Given the description of an element on the screen output the (x, y) to click on. 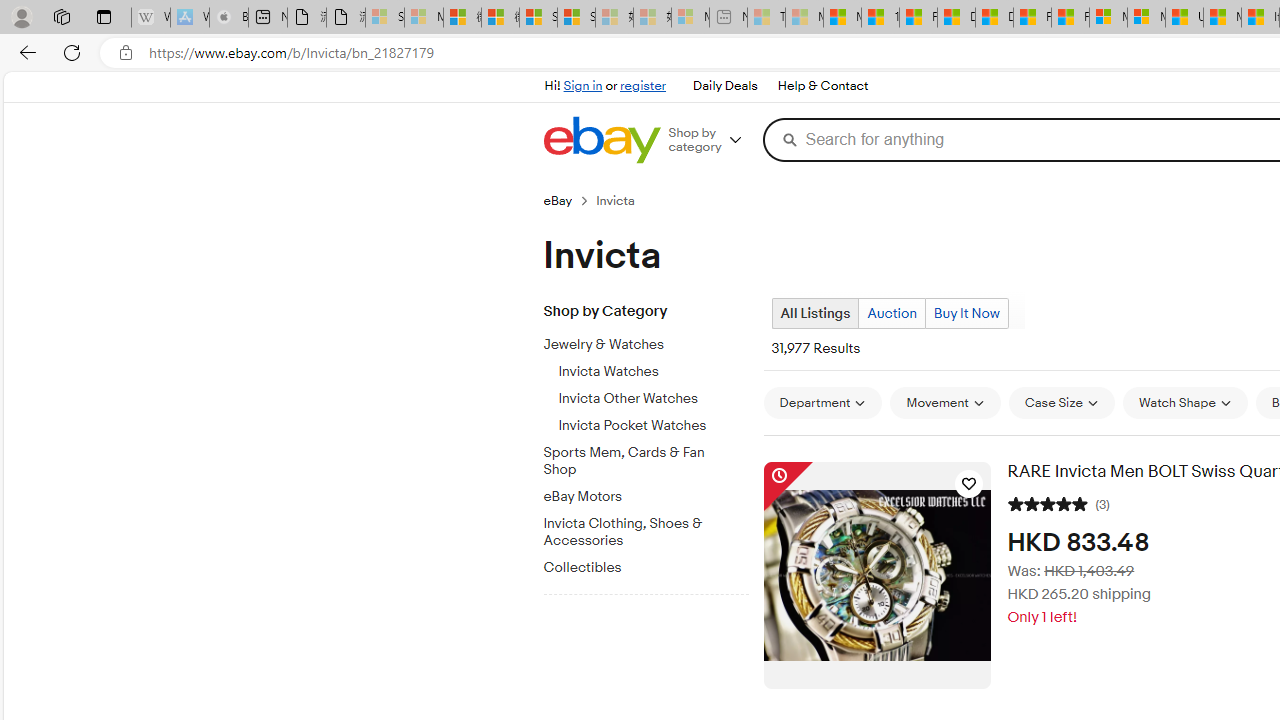
Auction (891, 313)
Collectibles (637, 568)
Movement (944, 402)
Jewelry & Watches (637, 345)
Daily Deals (724, 86)
Buy iPad - Apple - Sleeping (228, 17)
